Given the description of an element on the screen output the (x, y) to click on. 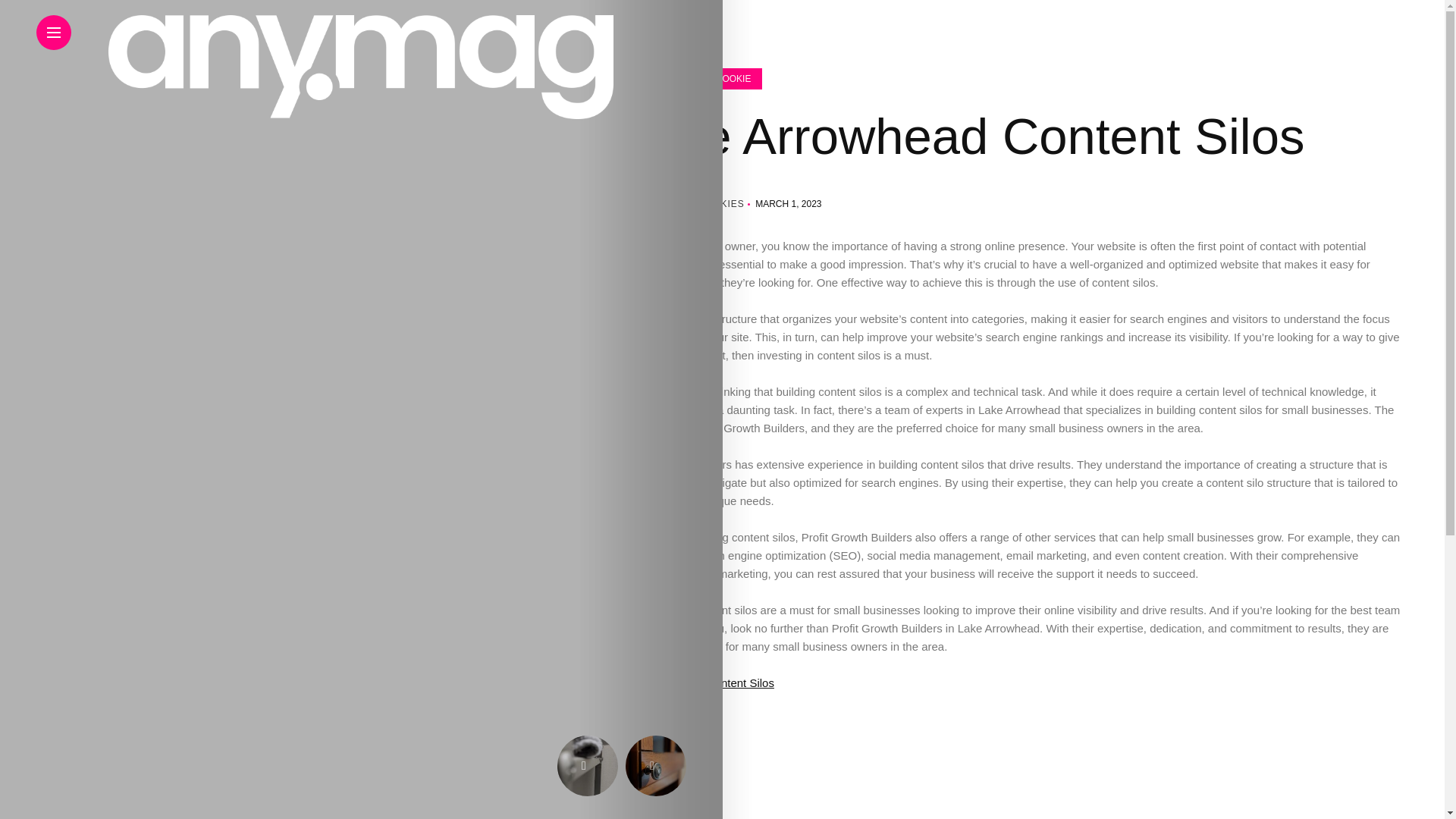
ANOTHER YUMMY COOKIE (455, 78)
Posts by WeYouz Cookies (696, 204)
Lake Arrowhead Content Silos (553, 682)
WEYOUZ COOKIES (495, 204)
